Given the description of an element on the screen output the (x, y) to click on. 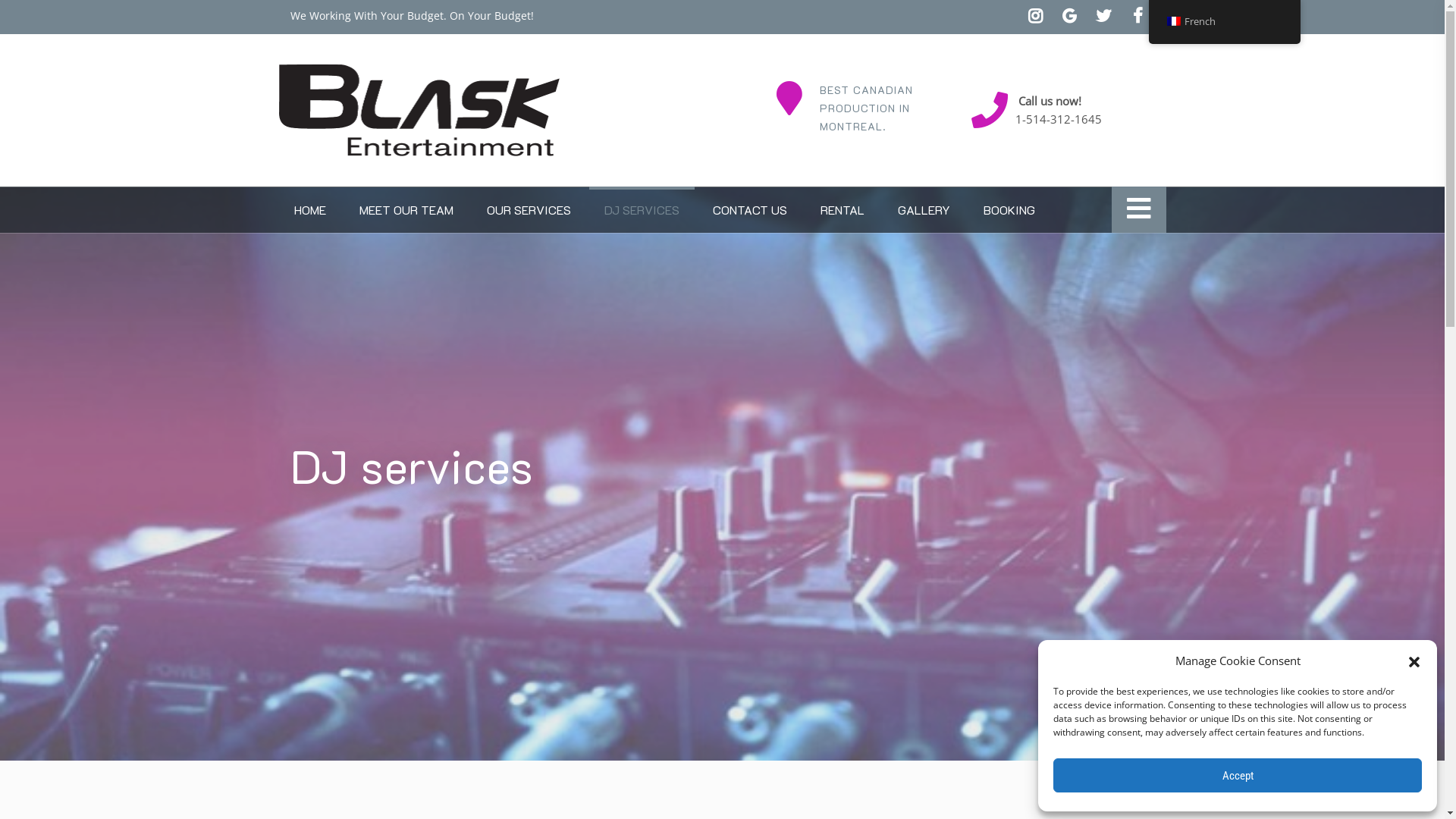
GALLERY Element type: text (923, 209)
CONTACT US Element type: text (749, 209)
1-514-312-1645 Element type: text (1058, 118)
MEET OUR TEAM Element type: text (406, 209)
DJ SERVICES Element type: text (640, 209)
Accept Element type: text (1237, 775)
French Element type: text (1223, 21)
French Element type: text (1223, 20)
OUR SERVICES Element type: text (528, 209)
French Element type: hover (1172, 20)
BOOKING Element type: text (1008, 209)
RENTAL Element type: text (842, 209)
HOME Element type: text (310, 209)
